Given the description of an element on the screen output the (x, y) to click on. 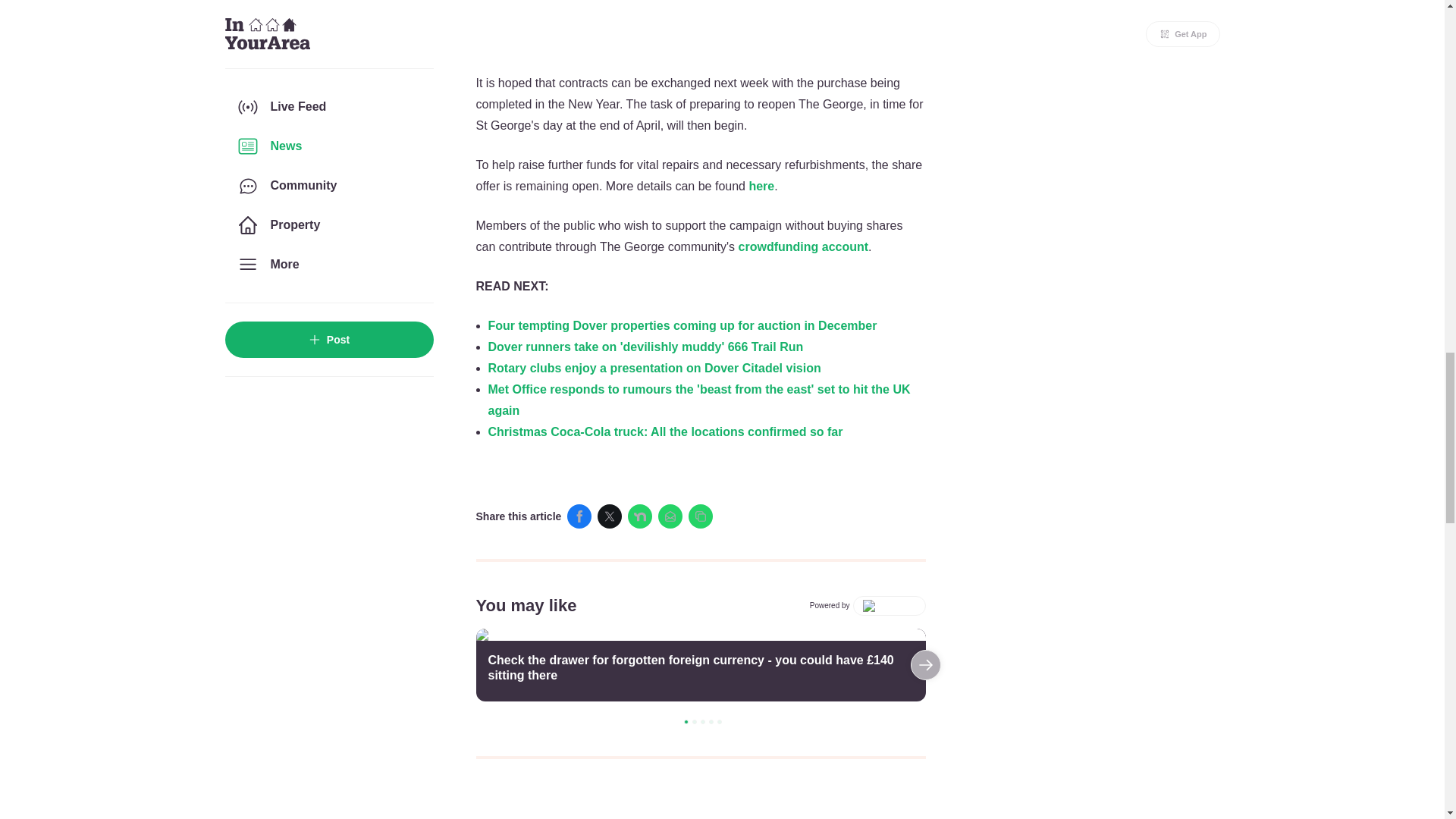
Share to Facebook (579, 516)
comments (701, 798)
Share to Nextdoor (639, 516)
Share to X (608, 516)
Copy to clipboard (700, 516)
Share to email (670, 516)
